Given the description of an element on the screen output the (x, y) to click on. 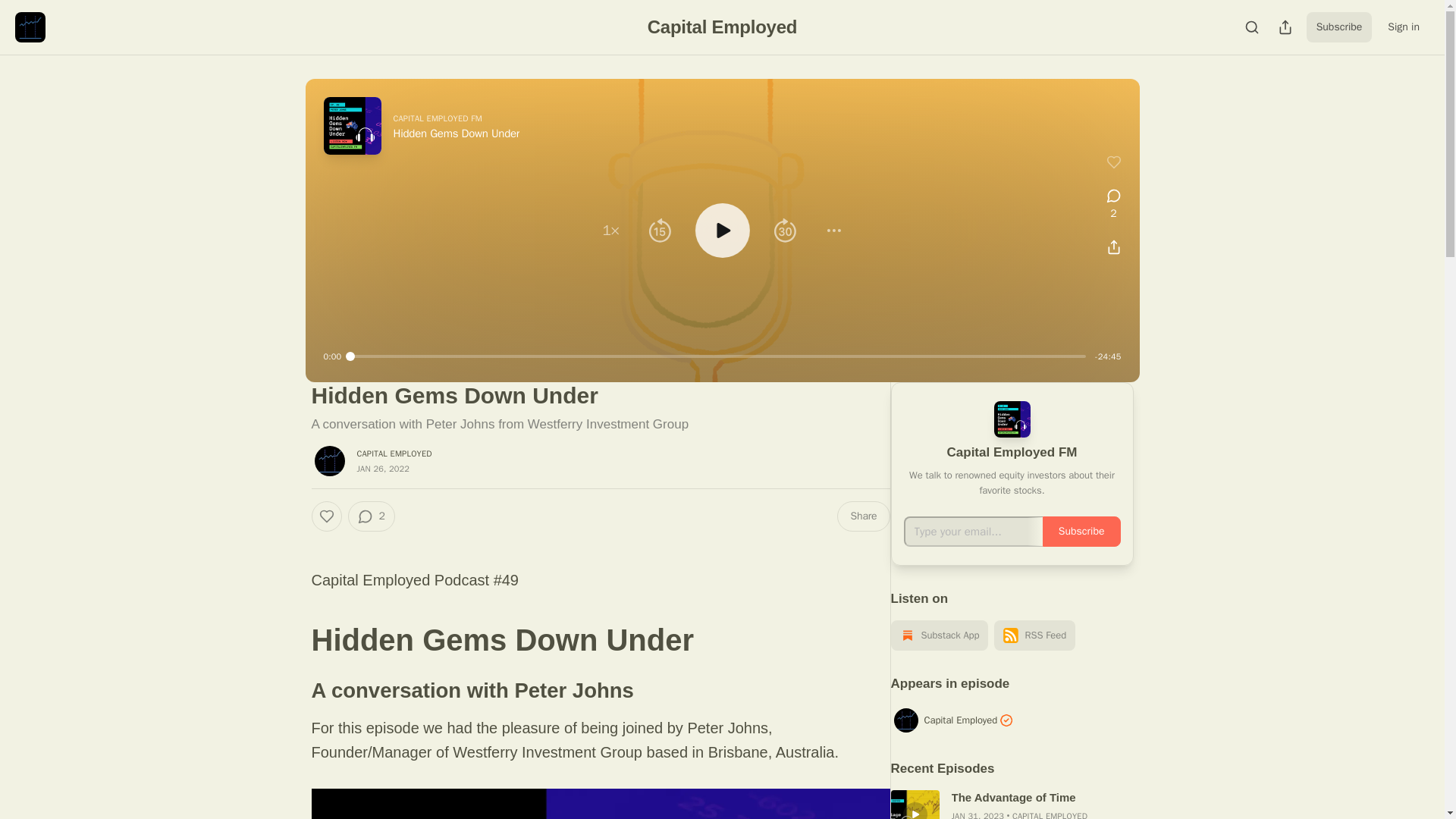
Subscribe (1339, 27)
2 (370, 516)
Share (863, 516)
Sign in (1403, 27)
Capital Employed (722, 26)
CAPITAL EMPLOYED (393, 452)
